Given the description of an element on the screen output the (x, y) to click on. 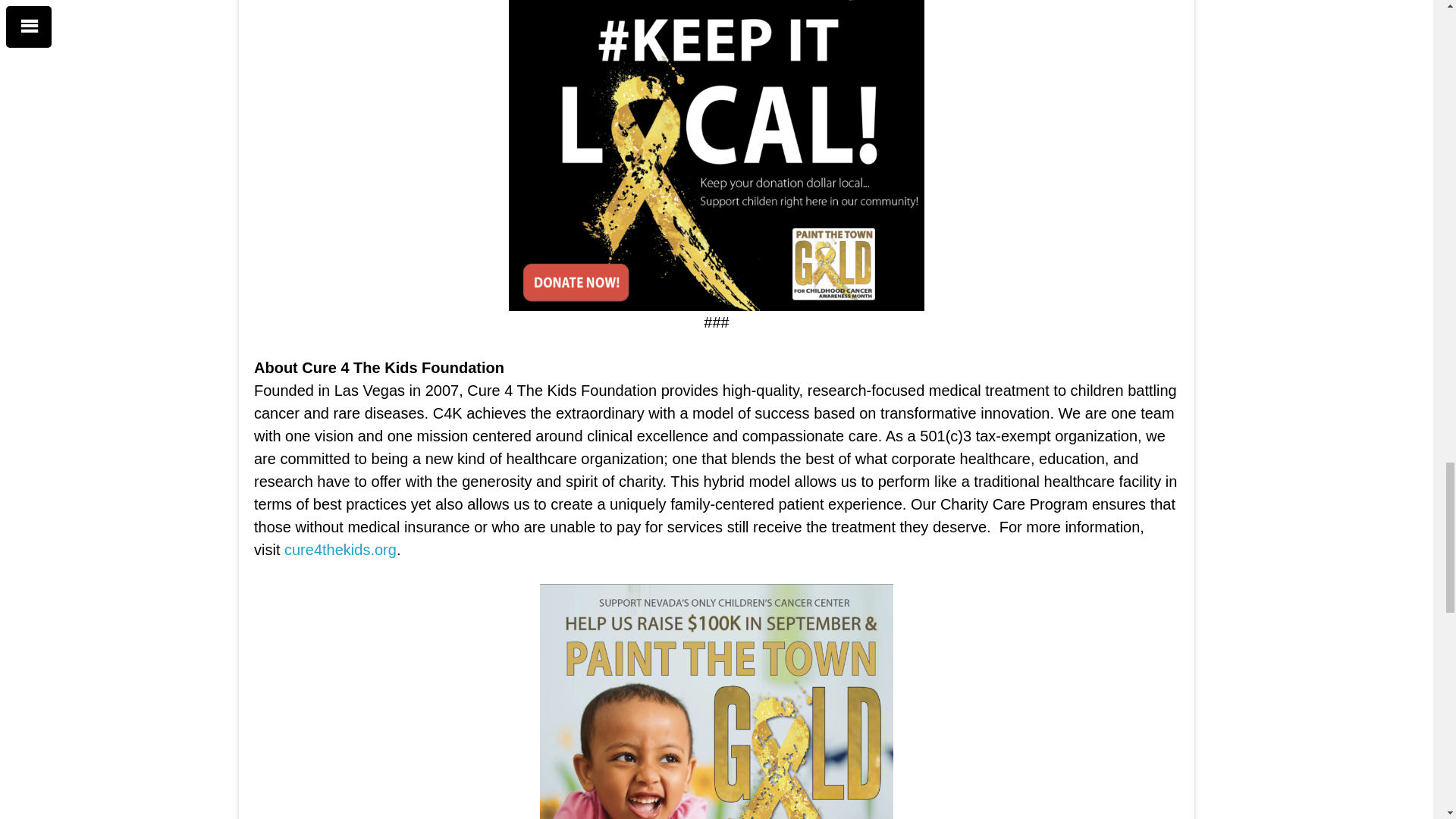
cure4thekids.org (339, 549)
